Given the description of an element on the screen output the (x, y) to click on. 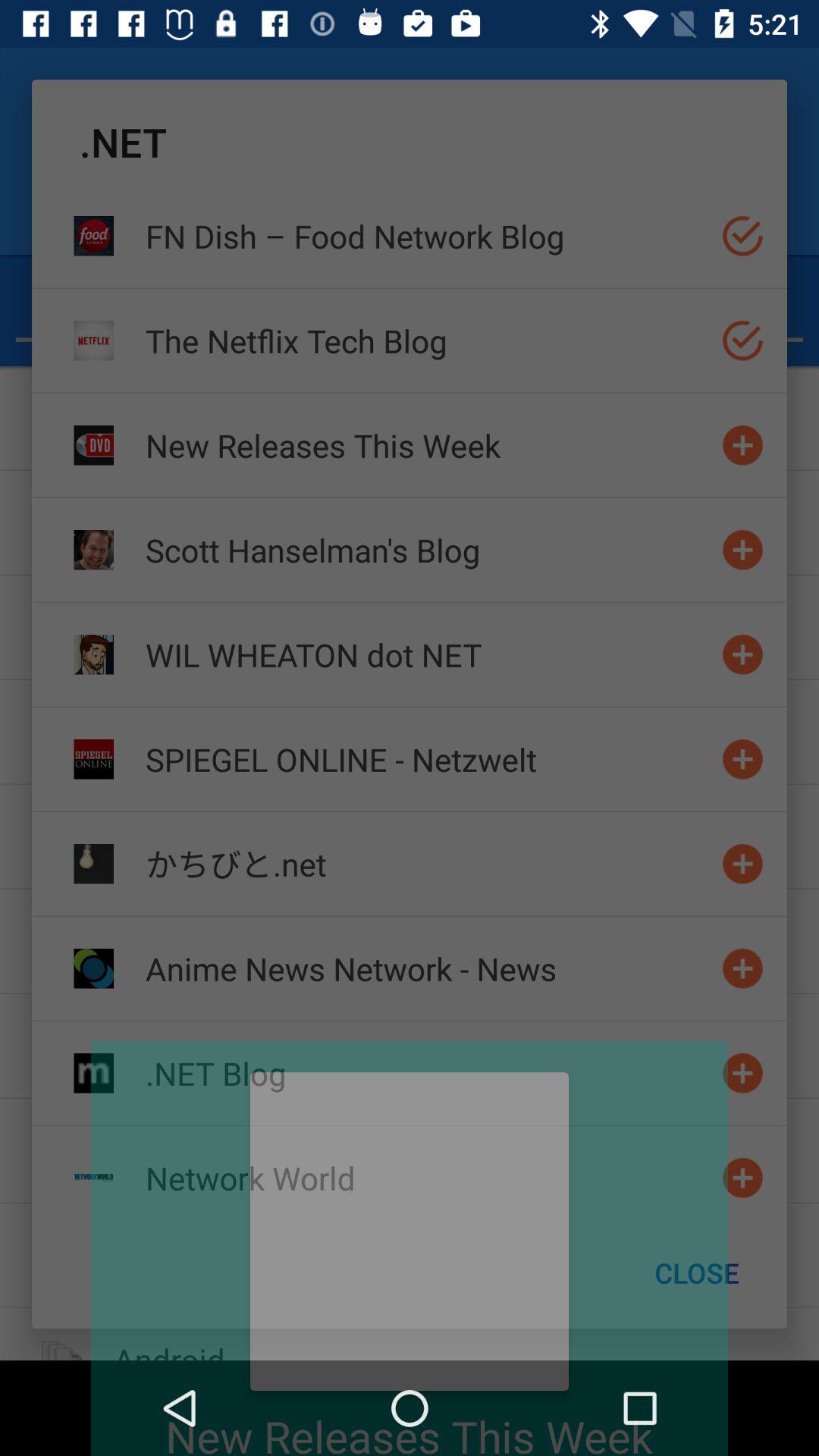
swipe to the network world icon (426, 1177)
